Given the description of an element on the screen output the (x, y) to click on. 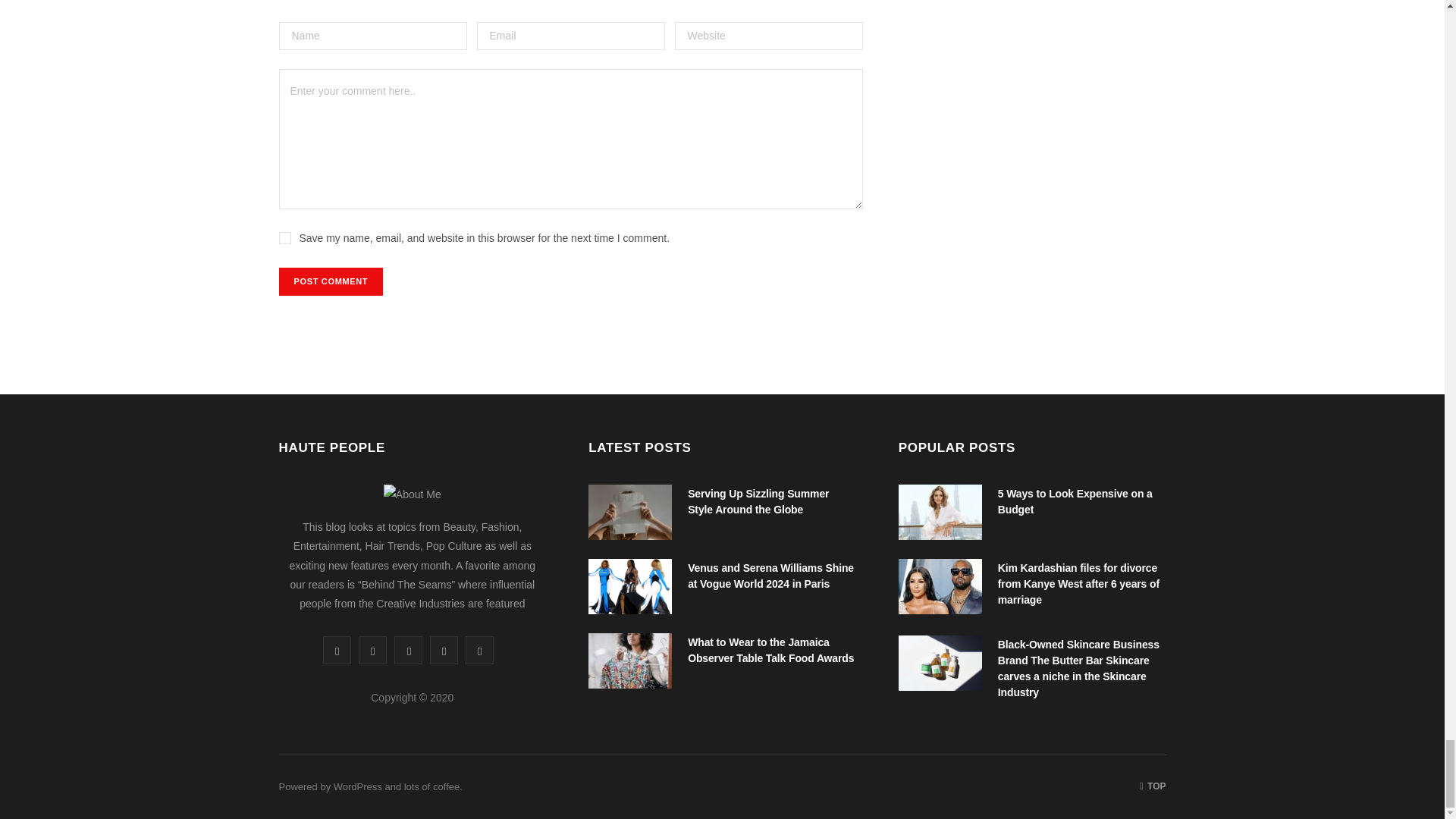
Post Comment (331, 281)
yes (285, 237)
